Given the description of an element on the screen output the (x, y) to click on. 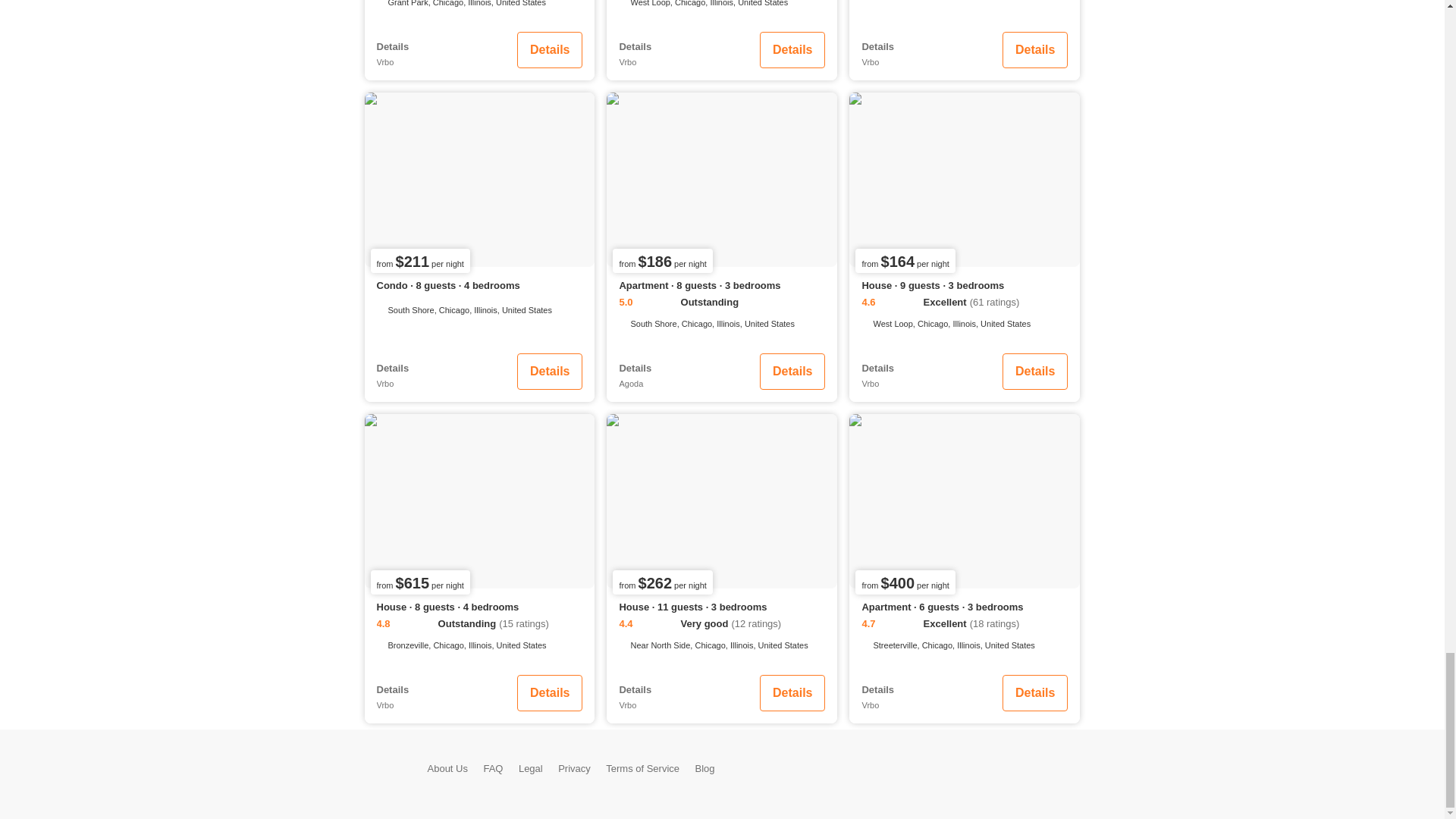
Terms of Service (642, 767)
Privacy (574, 767)
Legal (530, 767)
Blog (704, 767)
About Us (447, 767)
FAQ (492, 767)
